Given the description of an element on the screen output the (x, y) to click on. 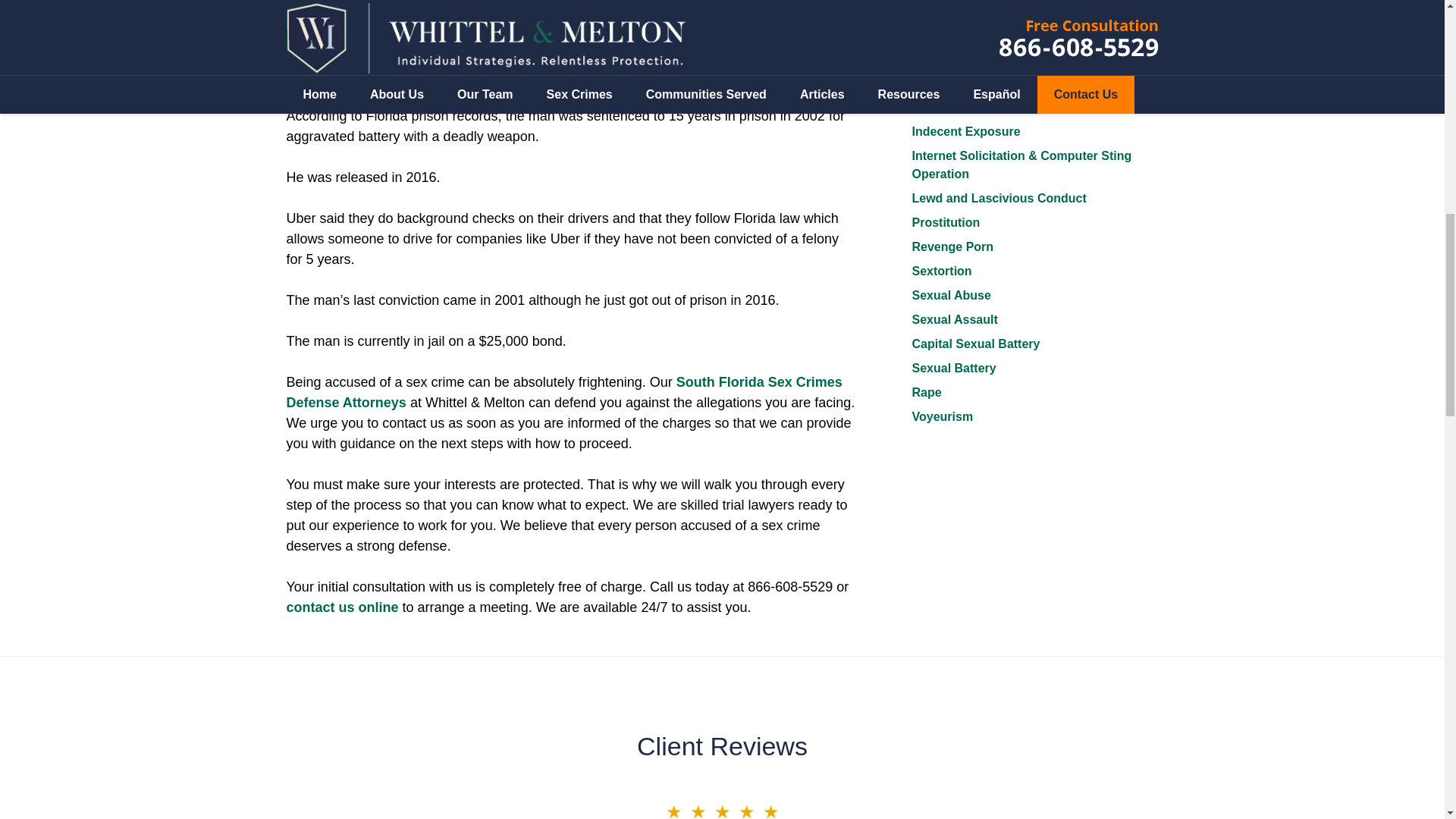
Child Pornography (965, 40)
Lewd and Lascivious Conduct (998, 197)
Prostitution (945, 222)
South Florida Sex Crimes Defense Attorneys (564, 392)
contact us online (342, 607)
Human Trafficking (964, 106)
Child Molestation (961, 15)
Indecent Exposure (965, 131)
Failure to Register as a Sexual Offender (999, 73)
